Given the description of an element on the screen output the (x, y) to click on. 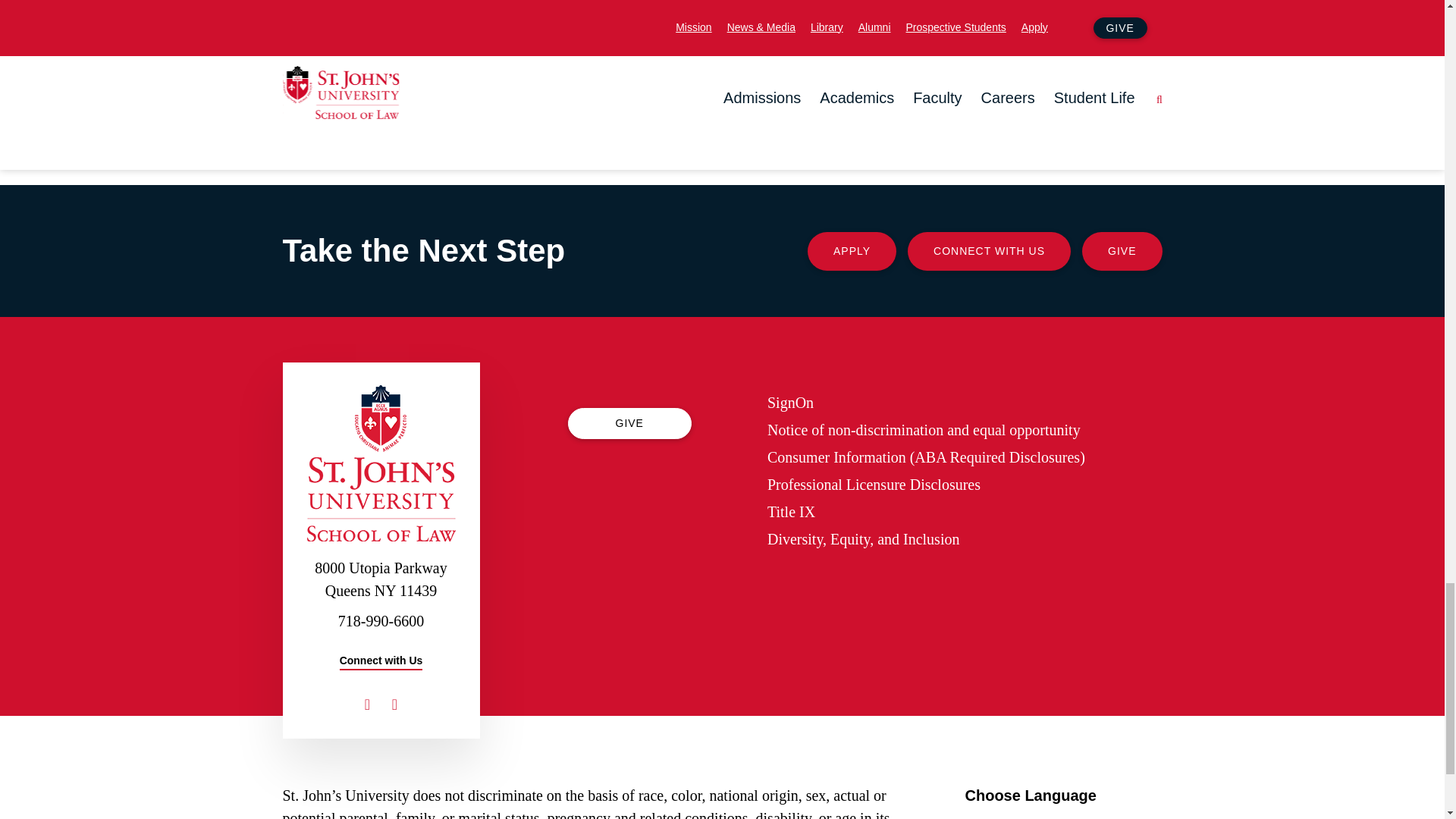
Law Commencement Female Student 360x260 (911, 69)
